Given the description of an element on the screen output the (x, y) to click on. 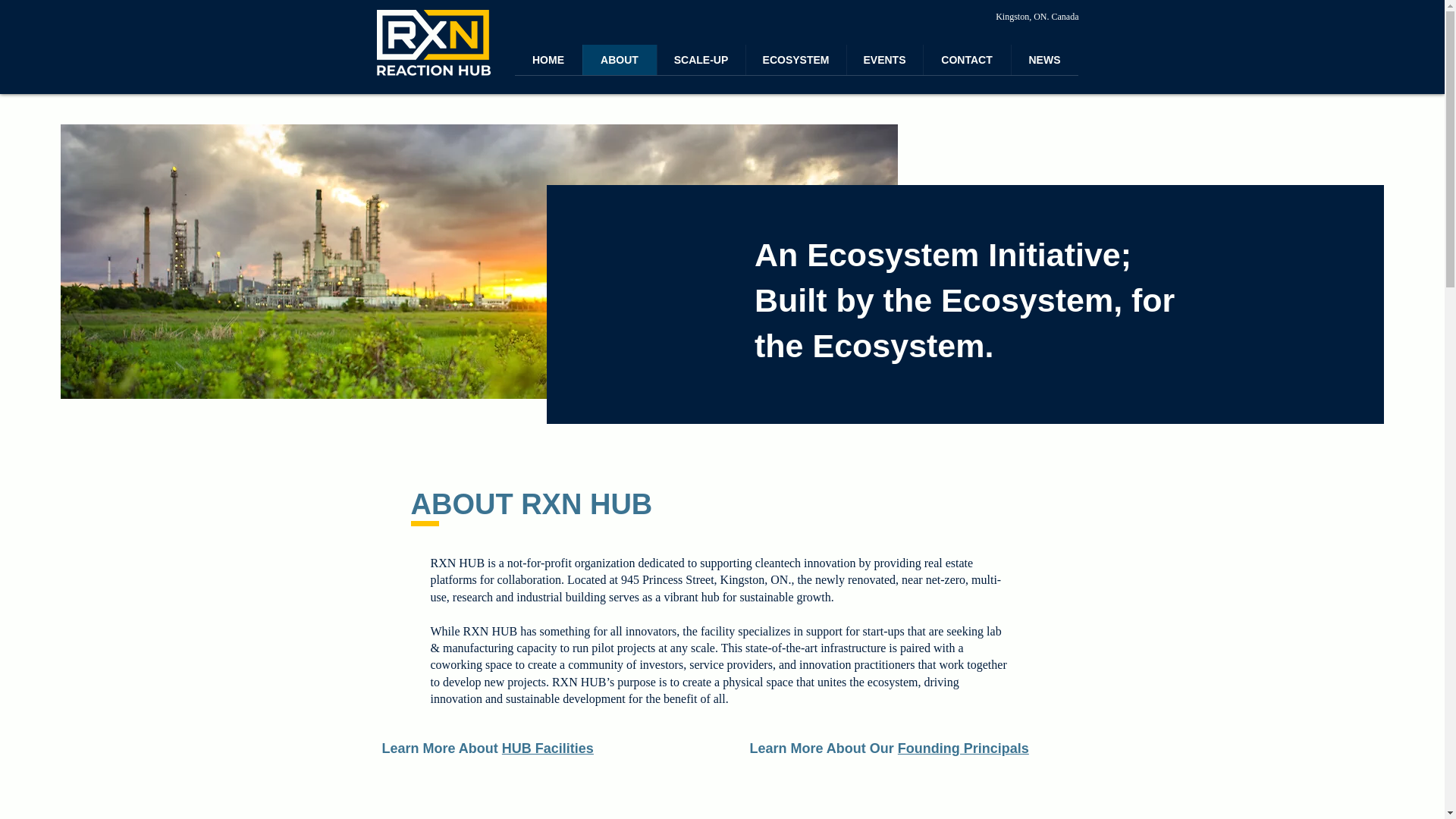
EVENTS (884, 60)
ABOUT (619, 60)
NEWS (1043, 60)
HOME (546, 60)
Founding Principals (963, 748)
ECOSYSTEM (794, 60)
CONTACT (965, 60)
SCALE-UP (700, 60)
HUB Facilities (548, 748)
